Given the description of an element on the screen output the (x, y) to click on. 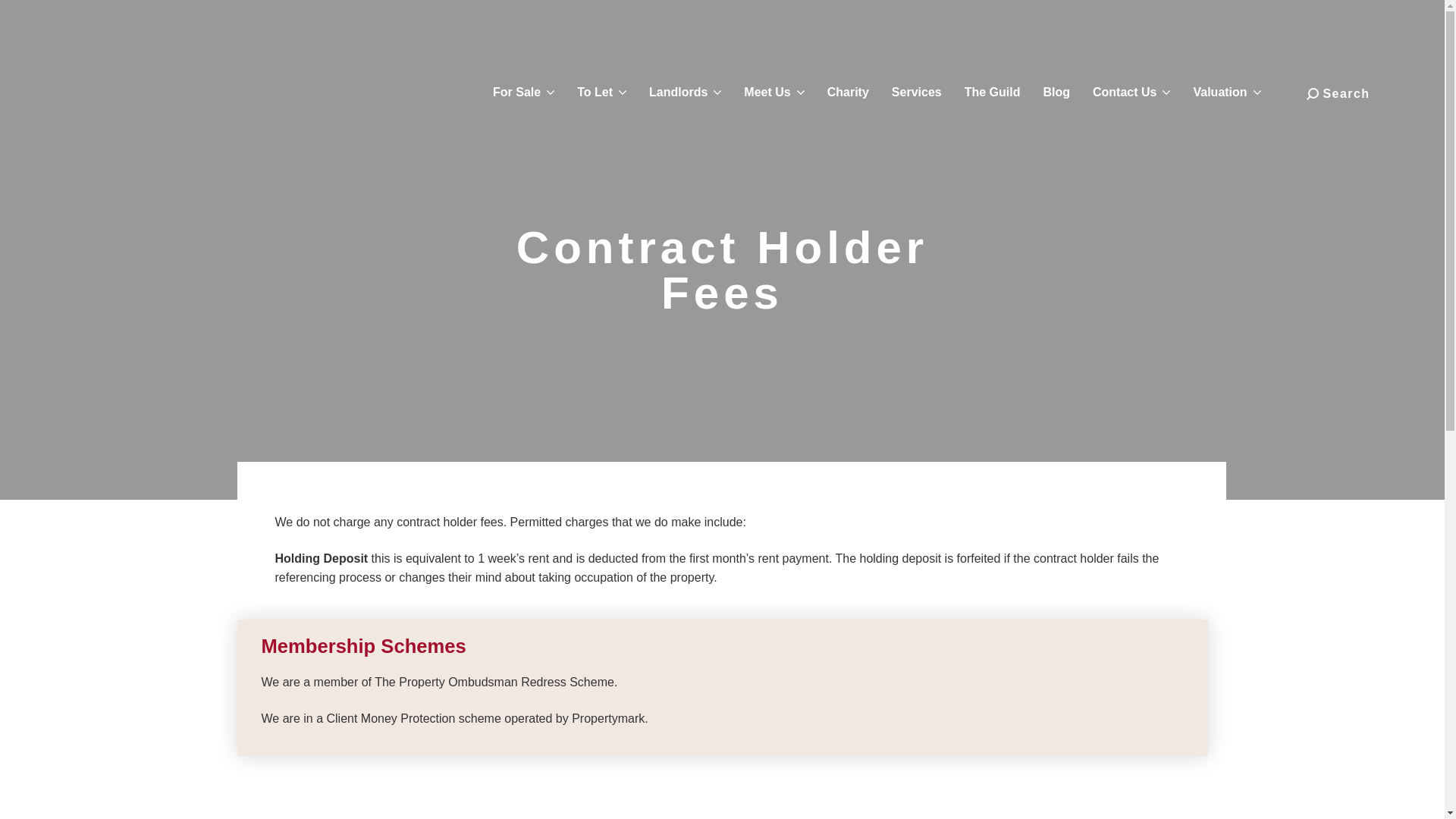
Meet Us (773, 92)
Services (916, 92)
Search (1338, 94)
Valuation (1226, 92)
To Let (601, 92)
Charity (848, 92)
Contact Us (1131, 92)
Landlords (685, 92)
For Sale (523, 92)
The Guild (992, 92)
Blog (1056, 92)
